Given the description of an element on the screen output the (x, y) to click on. 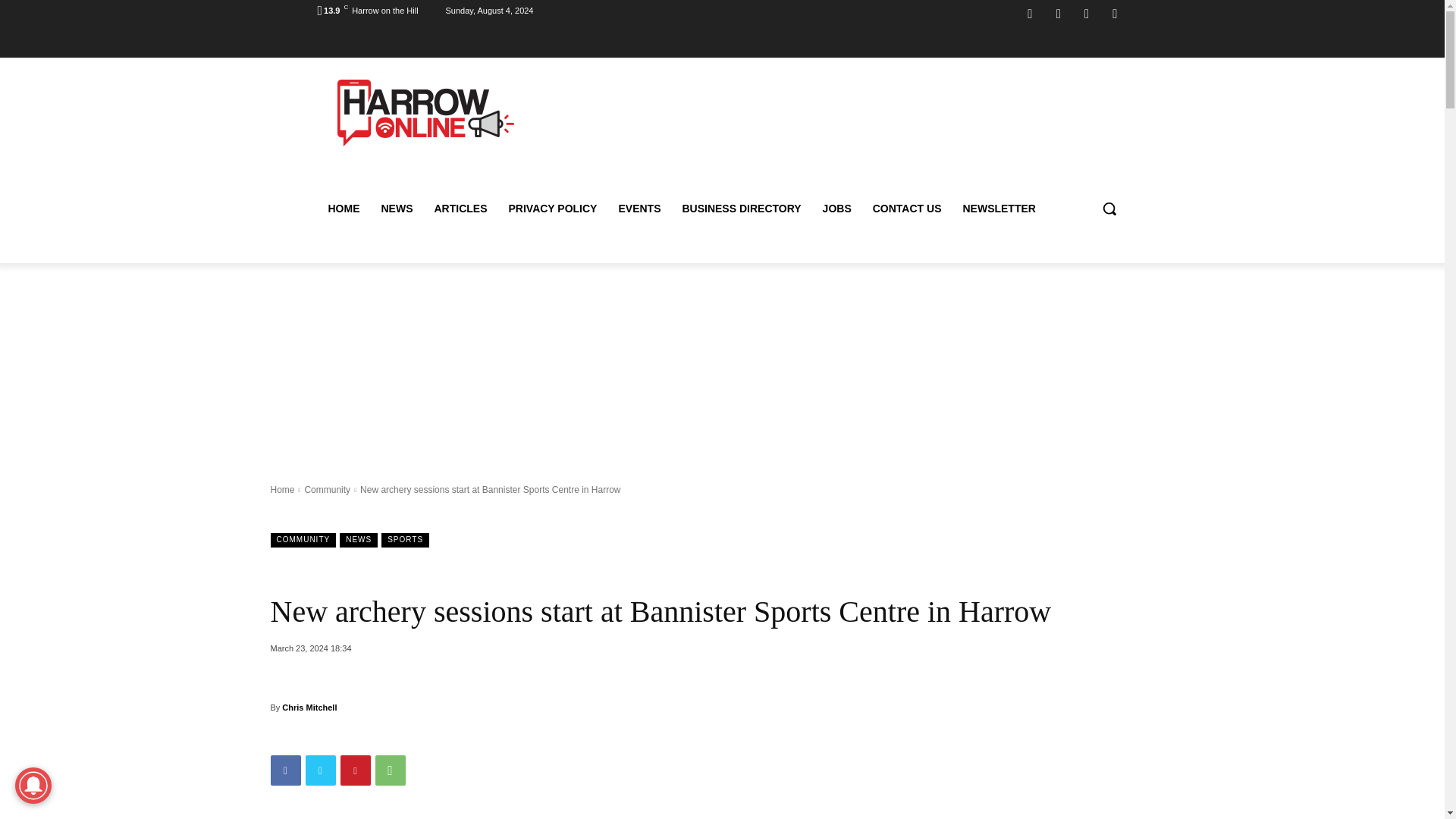
PRIVACY POLICY (552, 208)
EVENTS (639, 208)
NEWSLETTER (998, 208)
CONTACT US (906, 208)
BUSINESS DIRECTORY (740, 208)
ARTICLES (460, 208)
HOME (343, 208)
TikTok (1086, 13)
Instagram (1058, 13)
NEWS (396, 208)
Facebook (1029, 13)
JOBS (836, 208)
